Given the description of an element on the screen output the (x, y) to click on. 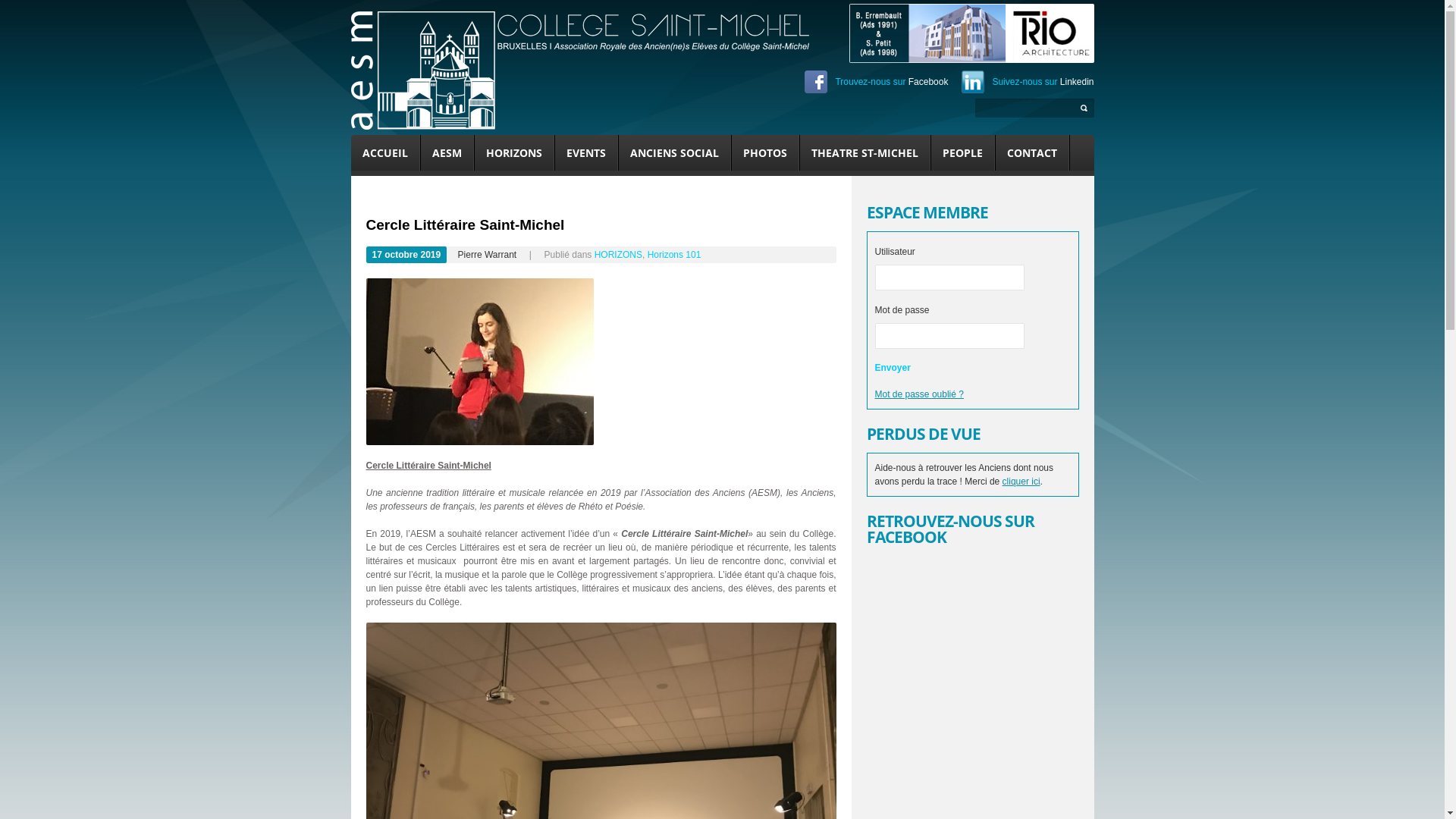
ACCUEIL Element type: text (384, 152)
THEATRE ST-MICHEL Element type: text (863, 152)
CONTACT Element type: text (1030, 152)
Suivez-nous sur Linkedin Element type: text (1027, 81)
EVENTS Element type: text (586, 152)
HORIZONS Element type: text (513, 152)
PEOPLE Element type: text (962, 152)
Envoyer Element type: text (892, 367)
Trouvez-nous sur Facebook Element type: text (875, 81)
Pierre Warrant Element type: text (487, 254)
PHOTOS Element type: text (764, 152)
cliquer ici Element type: text (1021, 481)
Horizons 101 Element type: text (674, 254)
HORIZONS Element type: text (618, 254)
AESM Element type: text (446, 152)
ANCIENS SOCIAL Element type: text (674, 152)
